Given the description of an element on the screen output the (x, y) to click on. 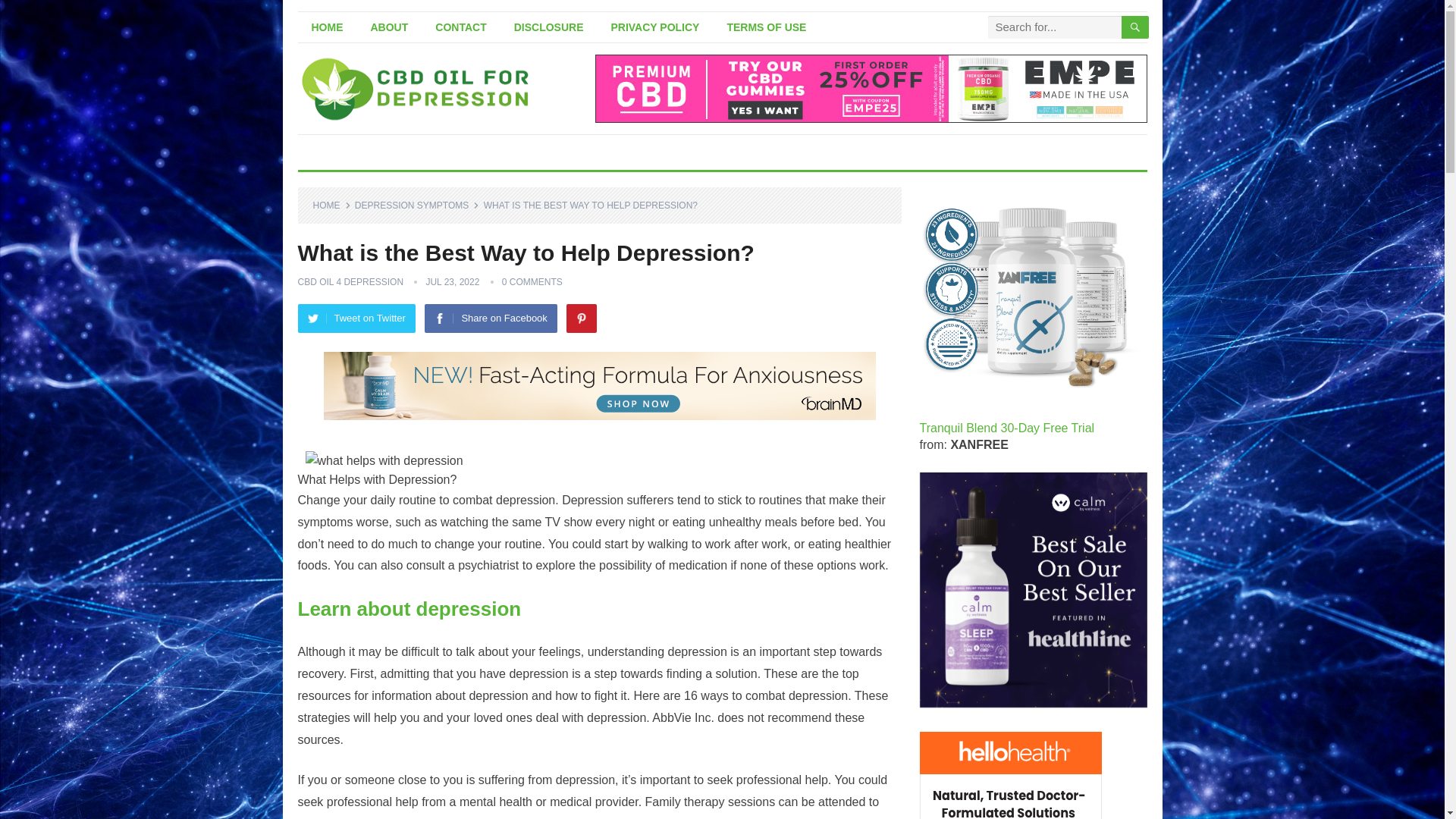
HOME (331, 204)
DEPRESSION SYMPTOMS (417, 204)
Tweet on Twitter (355, 317)
CONTACT (460, 27)
DISCLOSURE (548, 27)
Pinterest (581, 317)
PRIVACY POLICY (654, 27)
View all posts in Depression Symptoms (417, 204)
Share on Facebook (490, 317)
Learn about depression (409, 608)
HOME (326, 27)
CBD OIL 4 DEPRESSION (350, 281)
TERMS OF USE (766, 27)
0 COMMENTS (532, 281)
ABOUT (389, 27)
